Given the description of an element on the screen output the (x, y) to click on. 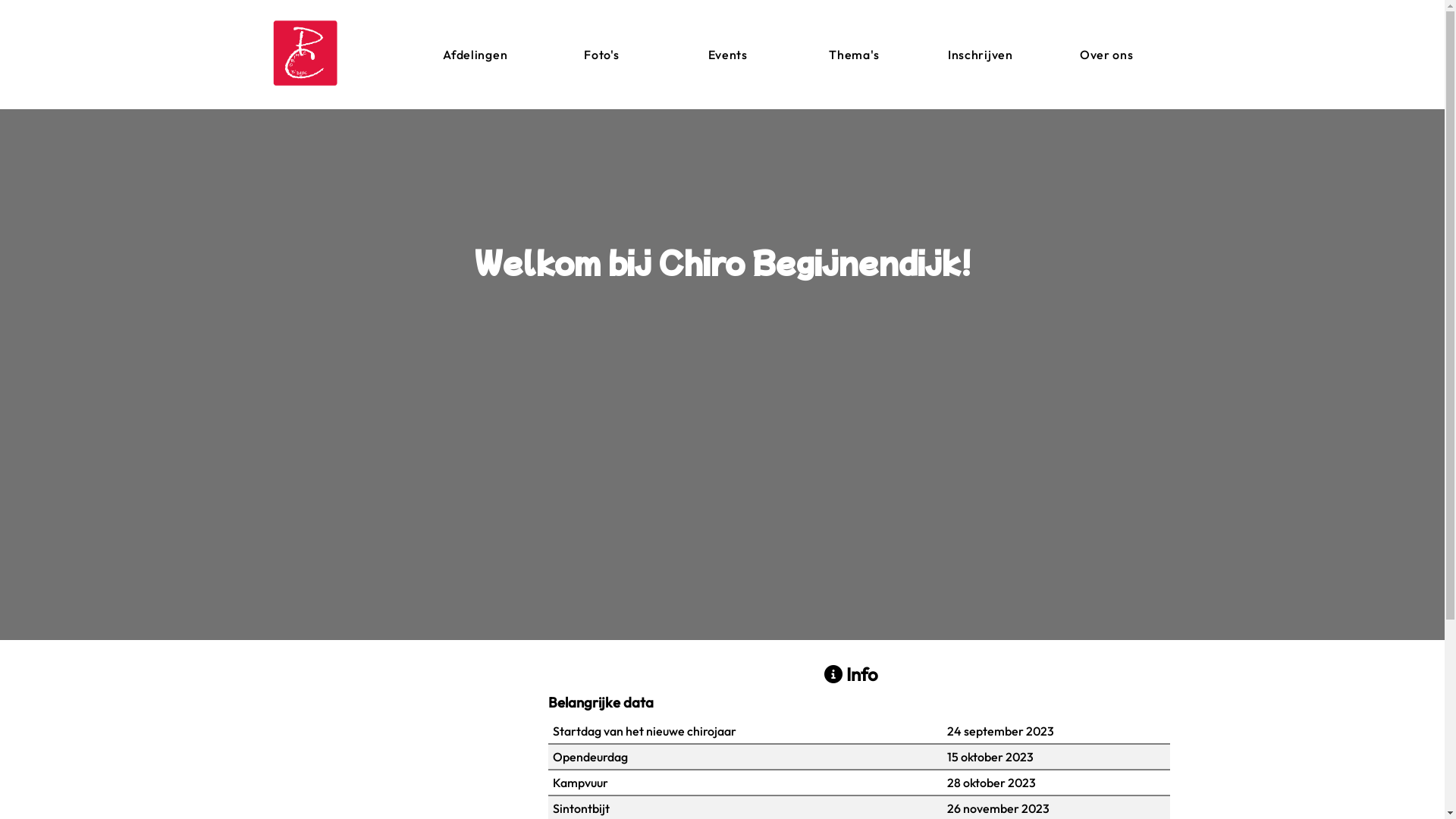
Inschrijven Element type: text (980, 54)
Afdelingen Element type: text (475, 54)
Events Element type: text (728, 54)
Foto's Element type: text (601, 54)
Thema's Element type: text (853, 54)
Over ons Element type: text (1106, 54)
